Given the description of an element on the screen output the (x, y) to click on. 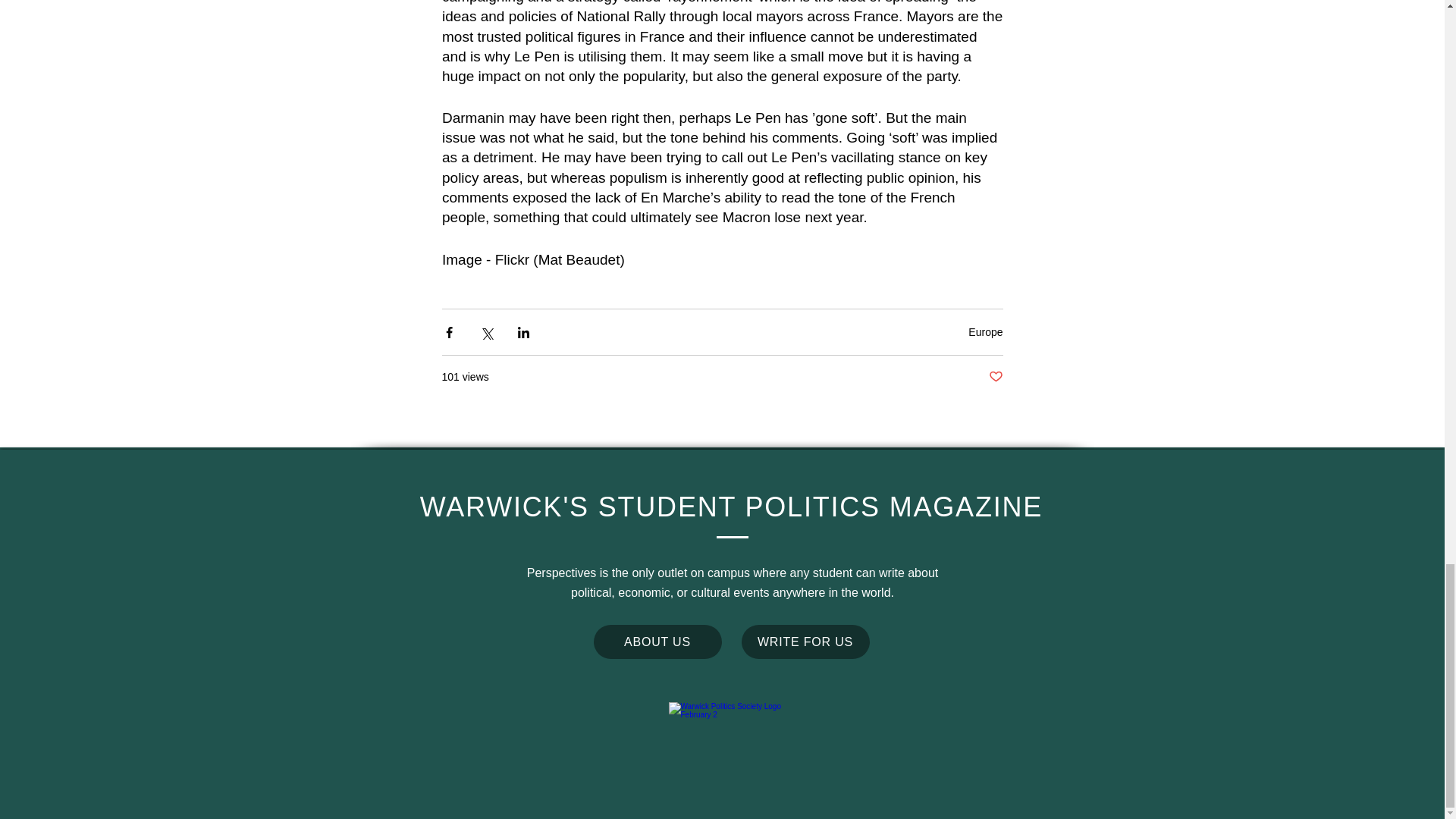
Europe (985, 331)
WRITE FOR US (805, 641)
Post not marked as liked (995, 376)
ABOUT US (656, 641)
